Given the description of an element on the screen output the (x, y) to click on. 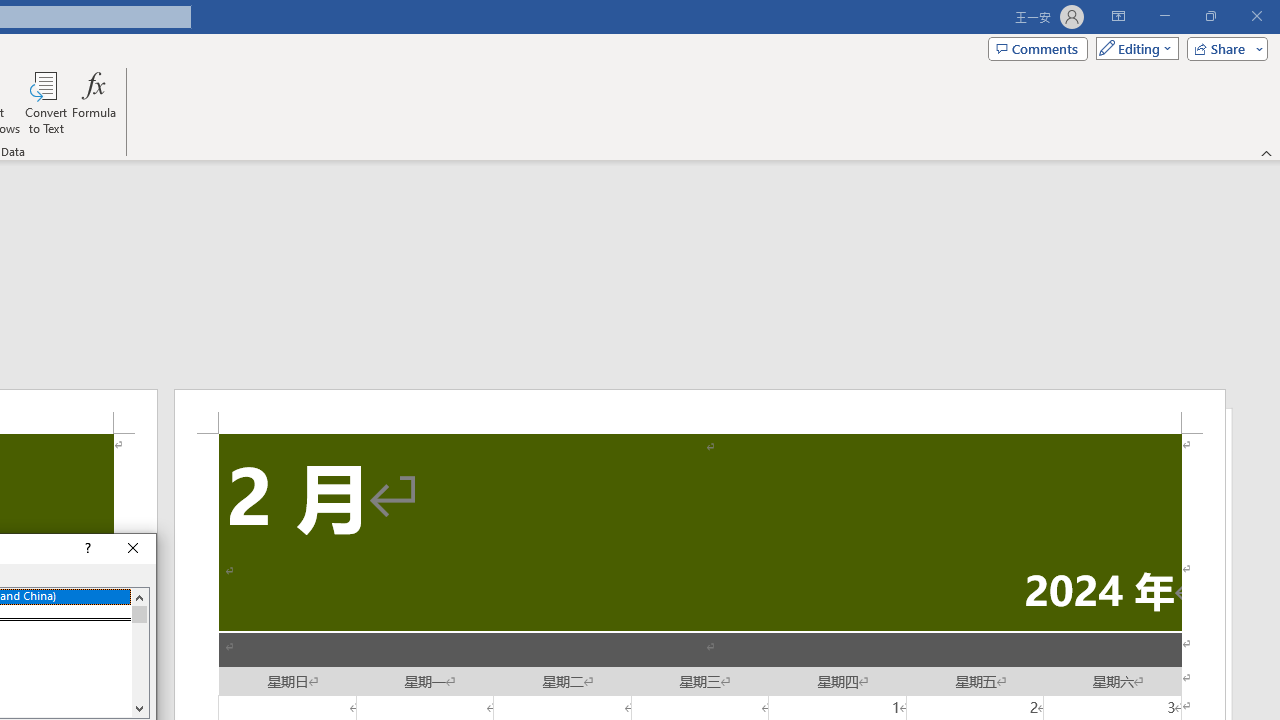
Close (133, 548)
Context help (86, 548)
Share (1223, 48)
Convert to Text... (46, 102)
Ribbon Display Options (1118, 16)
Comments (1038, 48)
Mode (1133, 47)
Collapse the Ribbon (1267, 152)
Header -Section 2- (700, 411)
Line up (139, 597)
Minimize (1164, 16)
Page down (139, 660)
Restore Down (1210, 16)
